Given the description of an element on the screen output the (x, y) to click on. 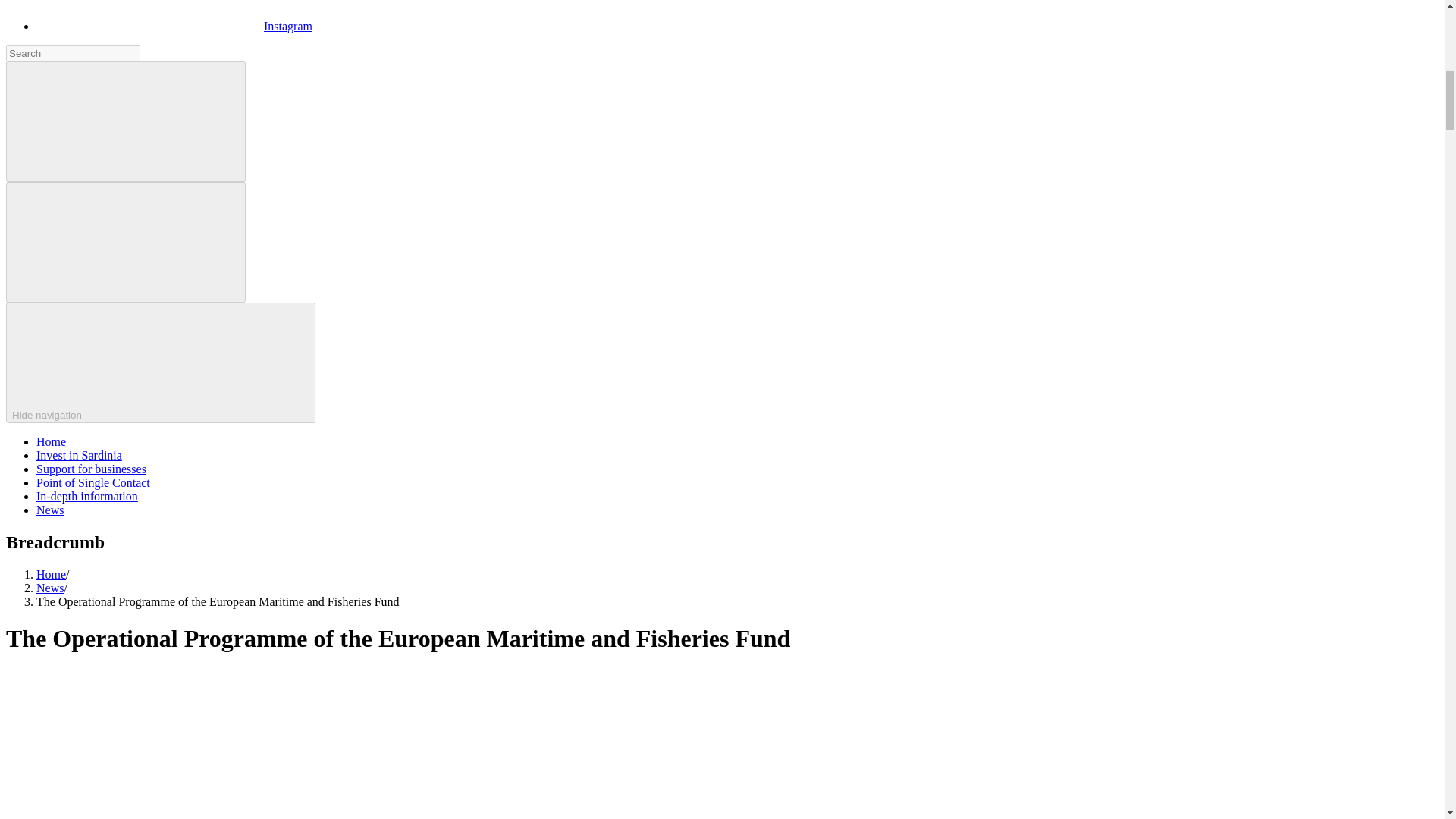
Go to page "Point of single contact" (92, 481)
